Given the description of an element on the screen output the (x, y) to click on. 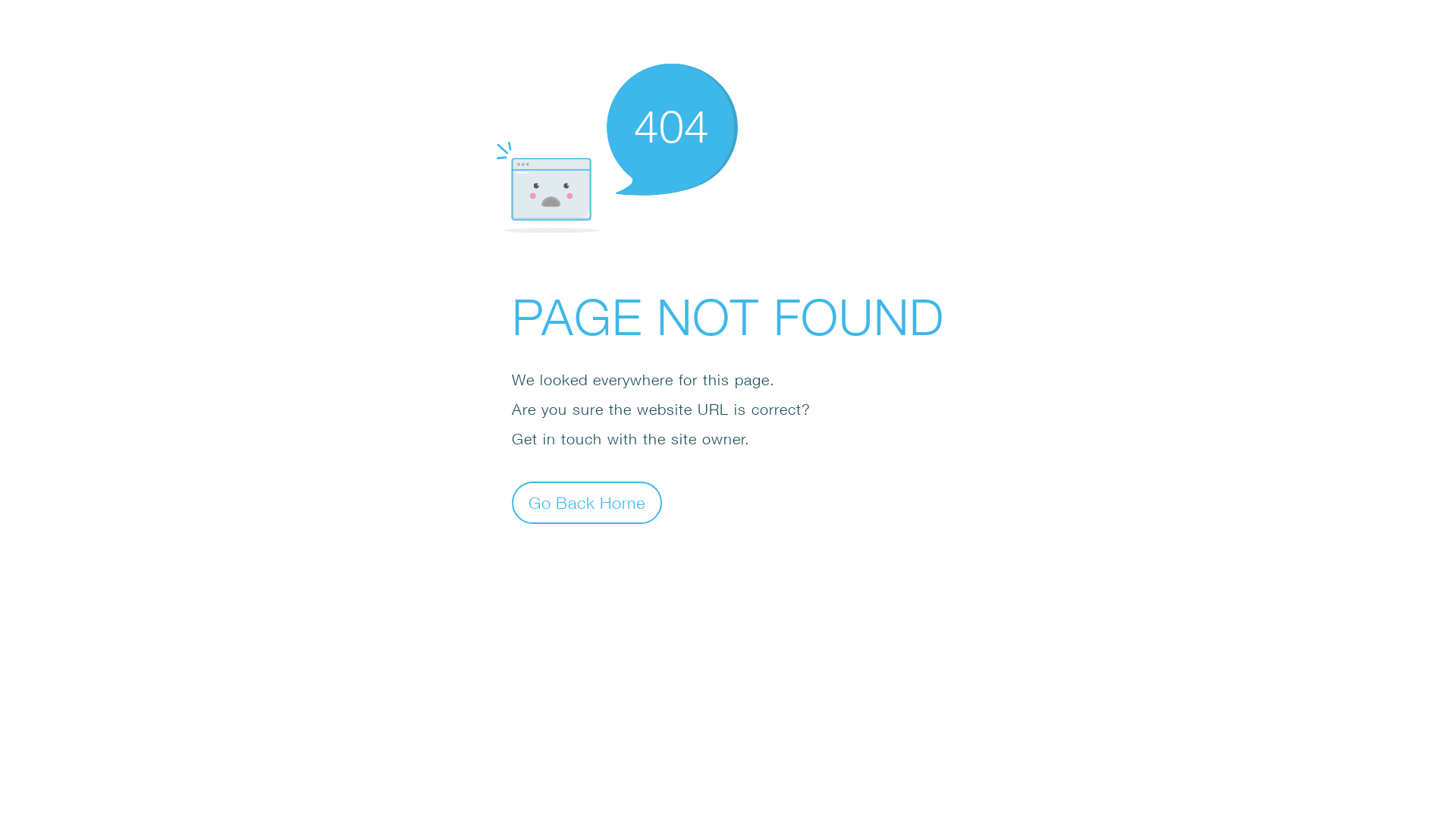
Go Back Home Element type: text (586, 502)
